Given the description of an element on the screen output the (x, y) to click on. 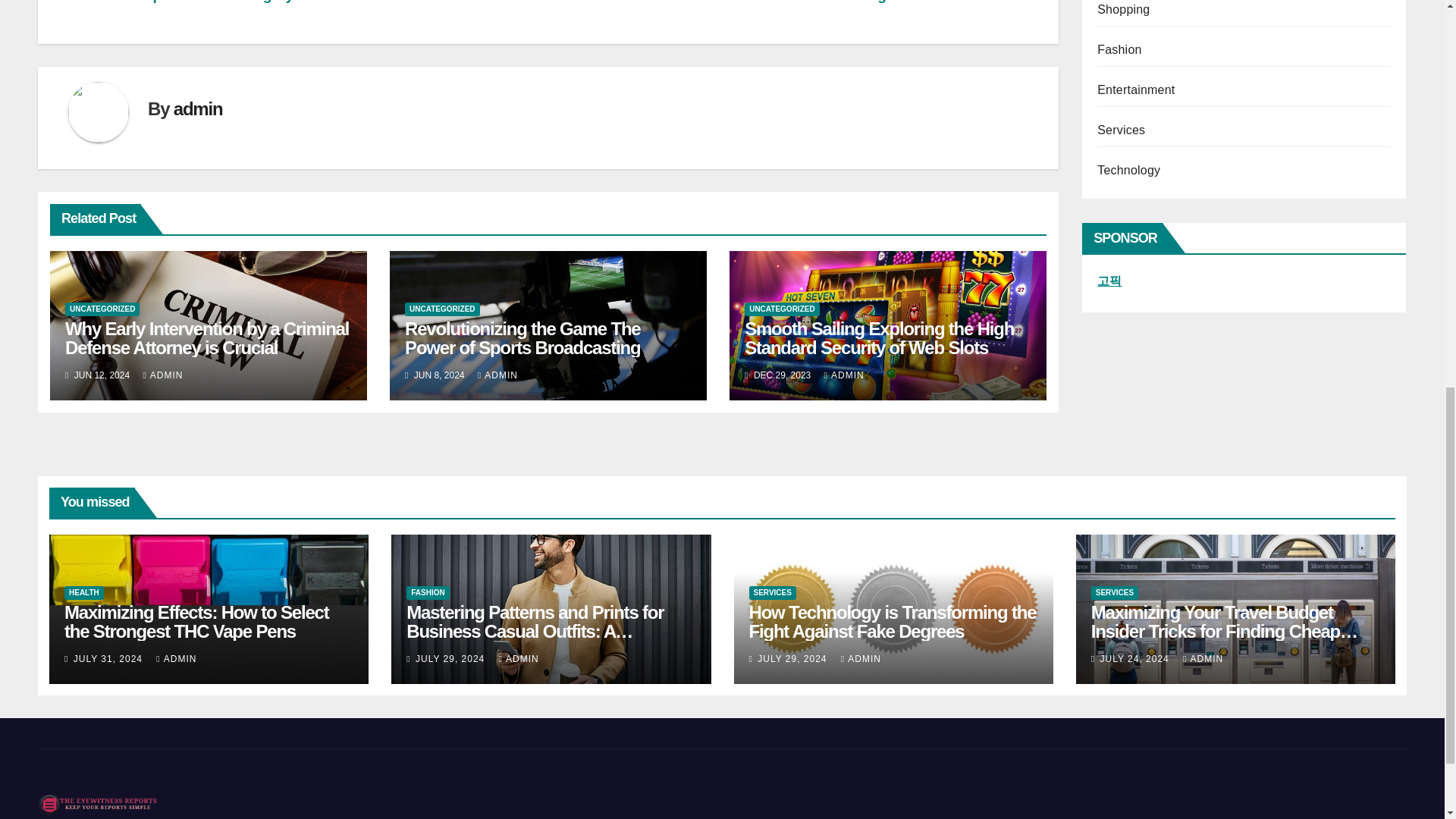
Add These Magnets To Your Casino (905, 1)
admin (197, 108)
UNCATEGORIZED (102, 309)
ADMIN (162, 375)
